Given the description of an element on the screen output the (x, y) to click on. 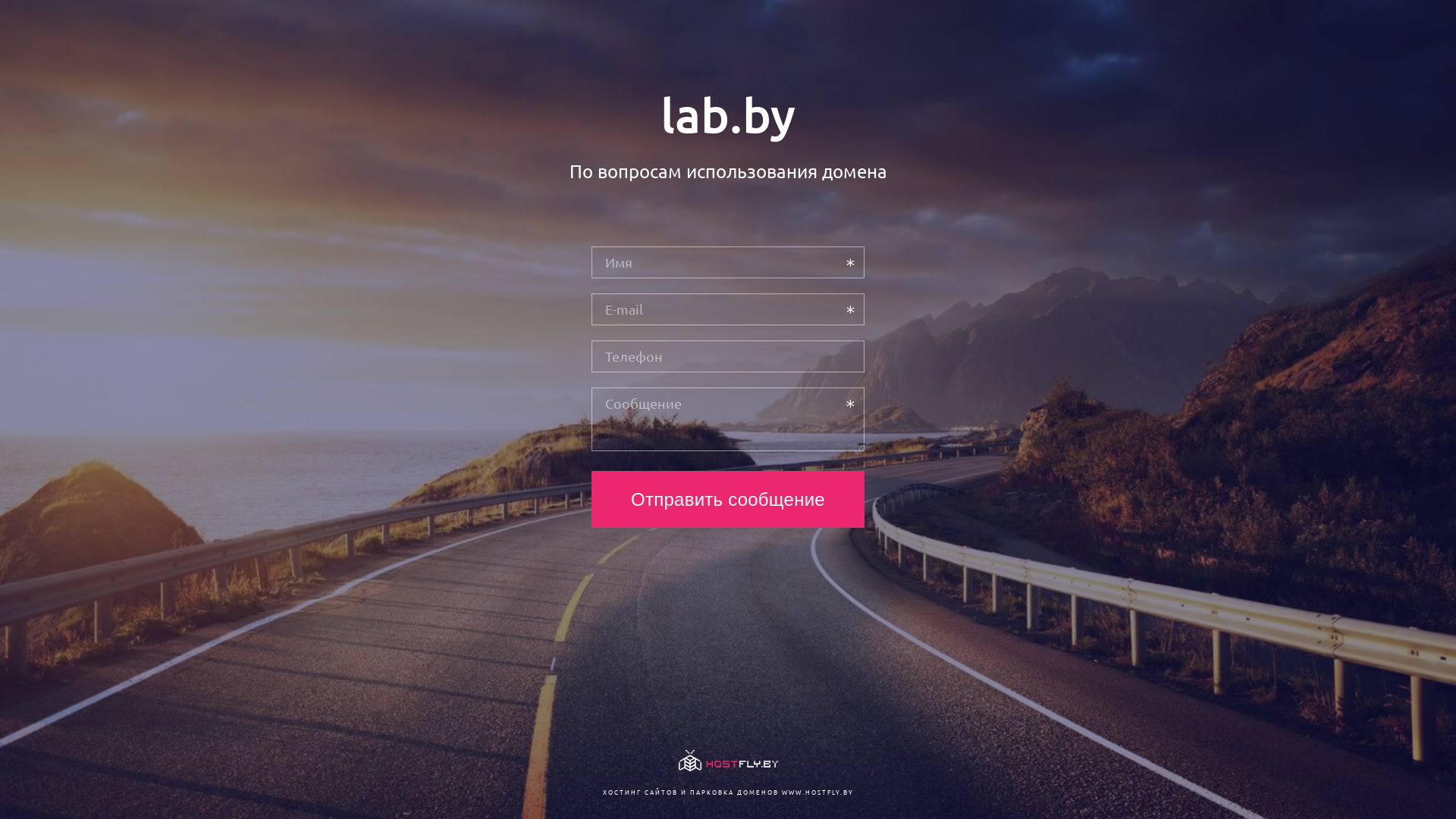
WWW.HOSTFLY.BY Element type: text (817, 791)
